Given the description of an element on the screen output the (x, y) to click on. 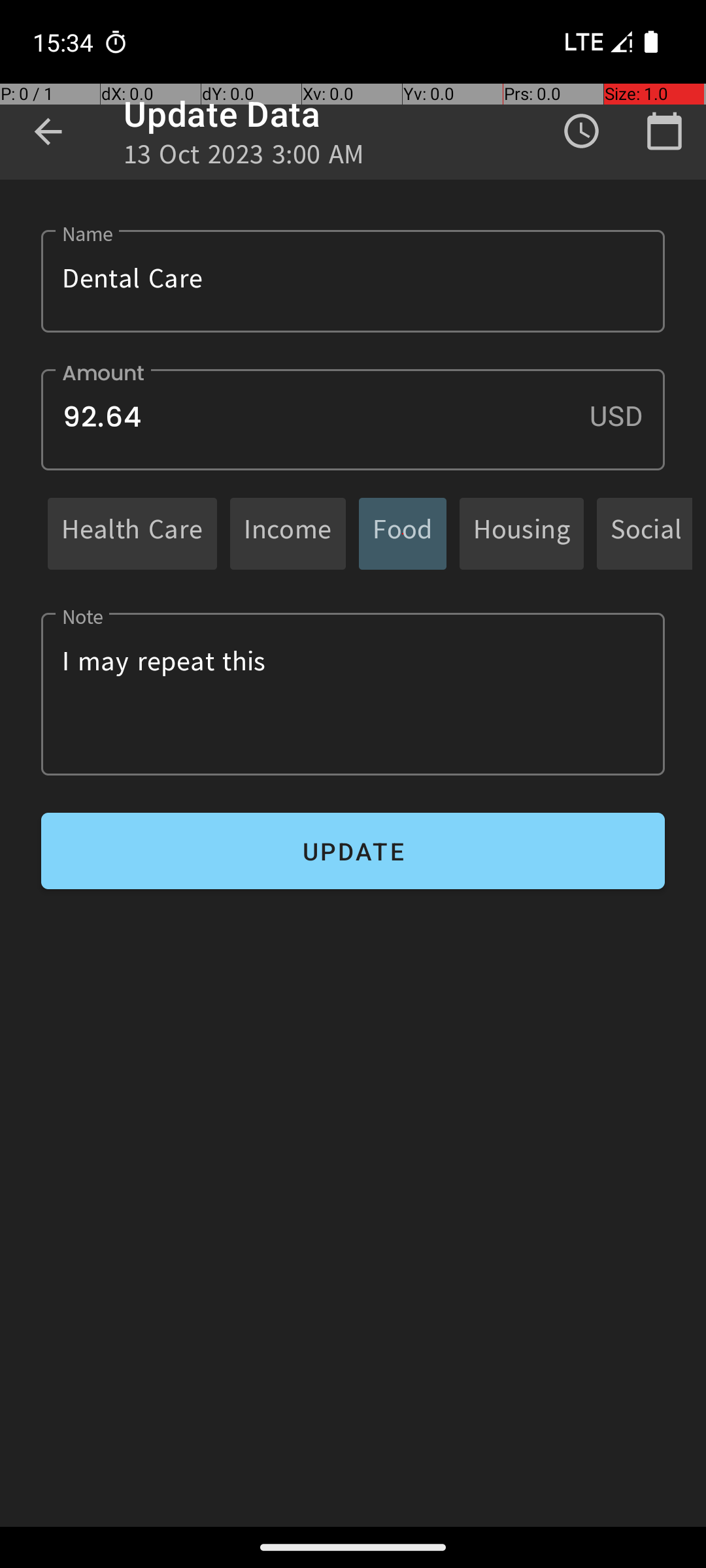
13 Oct 2023 3:00 AM Element type: android.widget.TextView (243, 157)
Dental Care Element type: android.widget.EditText (352, 280)
92.64 Element type: android.widget.EditText (352, 419)
Health Care Element type: android.widget.TextView (132, 533)
